Given the description of an element on the screen output the (x, y) to click on. 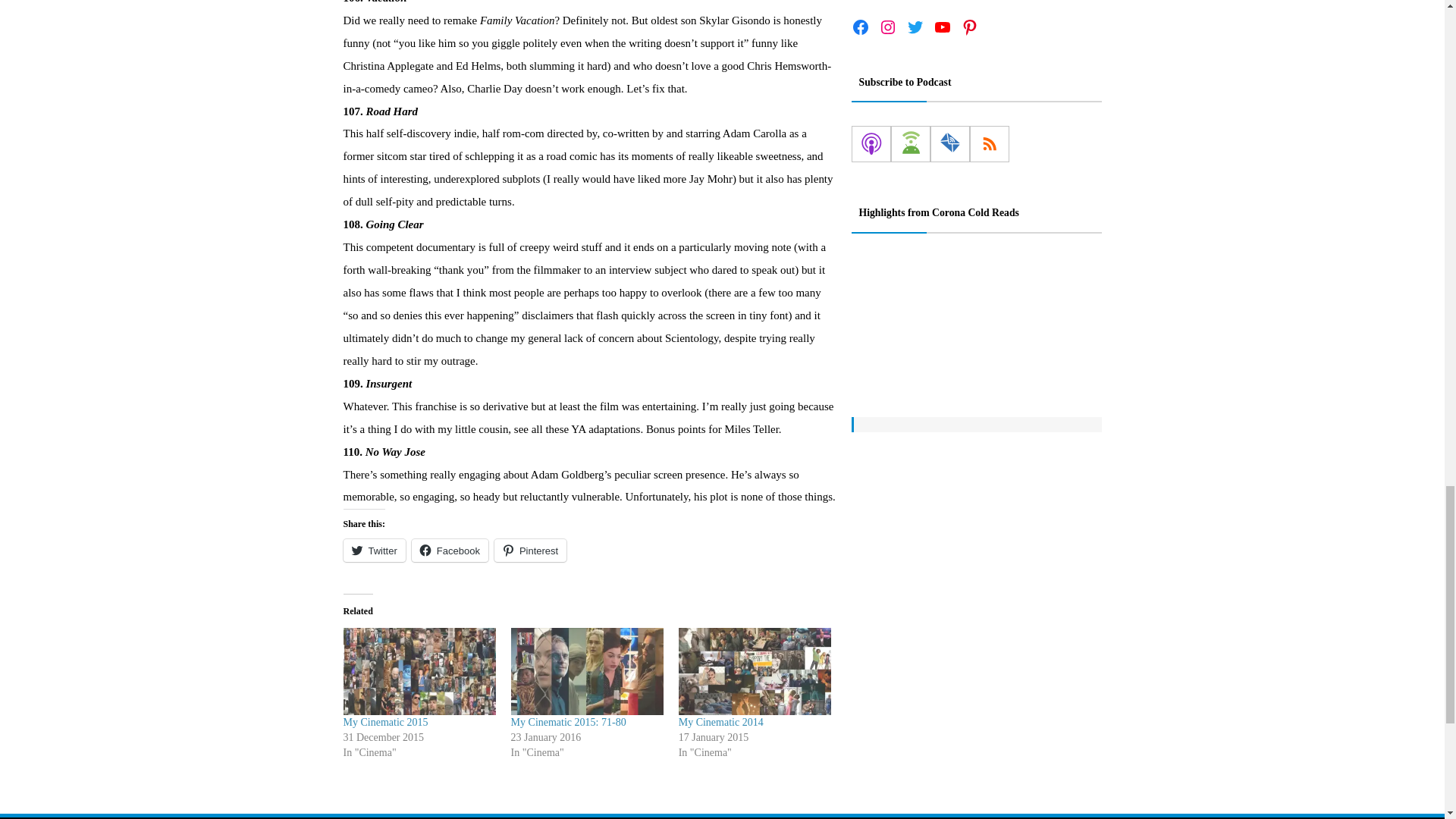
My Cinematic 2015 (385, 722)
My Cinematic 2014 (754, 671)
My Cinematic 2015 (418, 671)
My Cinematic 2015: 71-80 (587, 671)
My Cinematic 2015: 71-80 (568, 722)
My Cinematic 2015 (385, 722)
Pinterest (530, 549)
Click to share on Pinterest (530, 549)
Click to share on Facebook (449, 549)
Click to share on Twitter (373, 549)
Facebook (449, 549)
Twitter (373, 549)
My Cinematic 2014 (720, 722)
My Cinematic 2015: 71-80 (568, 722)
